Given the description of an element on the screen output the (x, y) to click on. 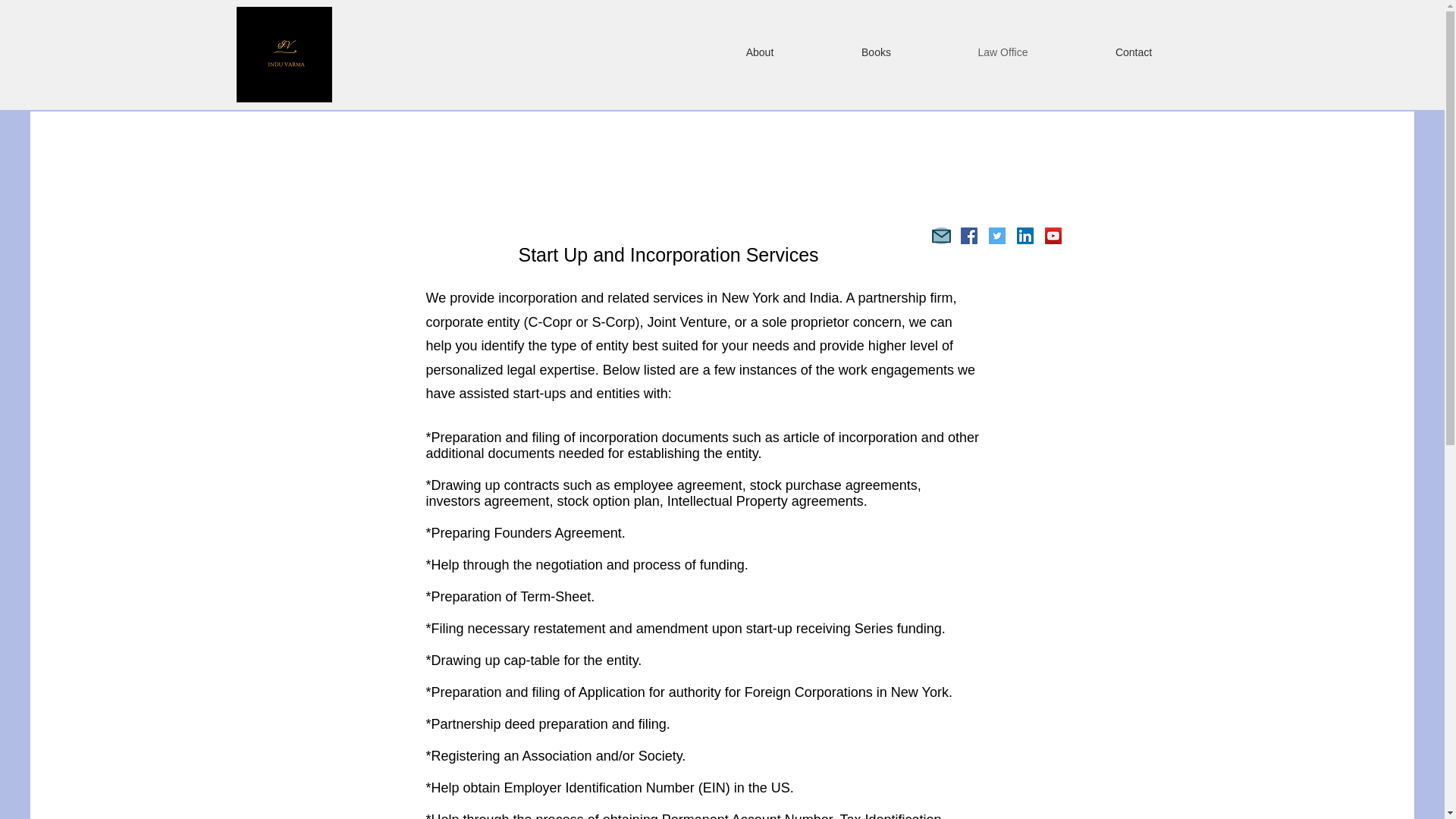
Law Office (1002, 52)
Books (876, 52)
Contact (1133, 52)
About (759, 52)
